Given the description of an element on the screen output the (x, y) to click on. 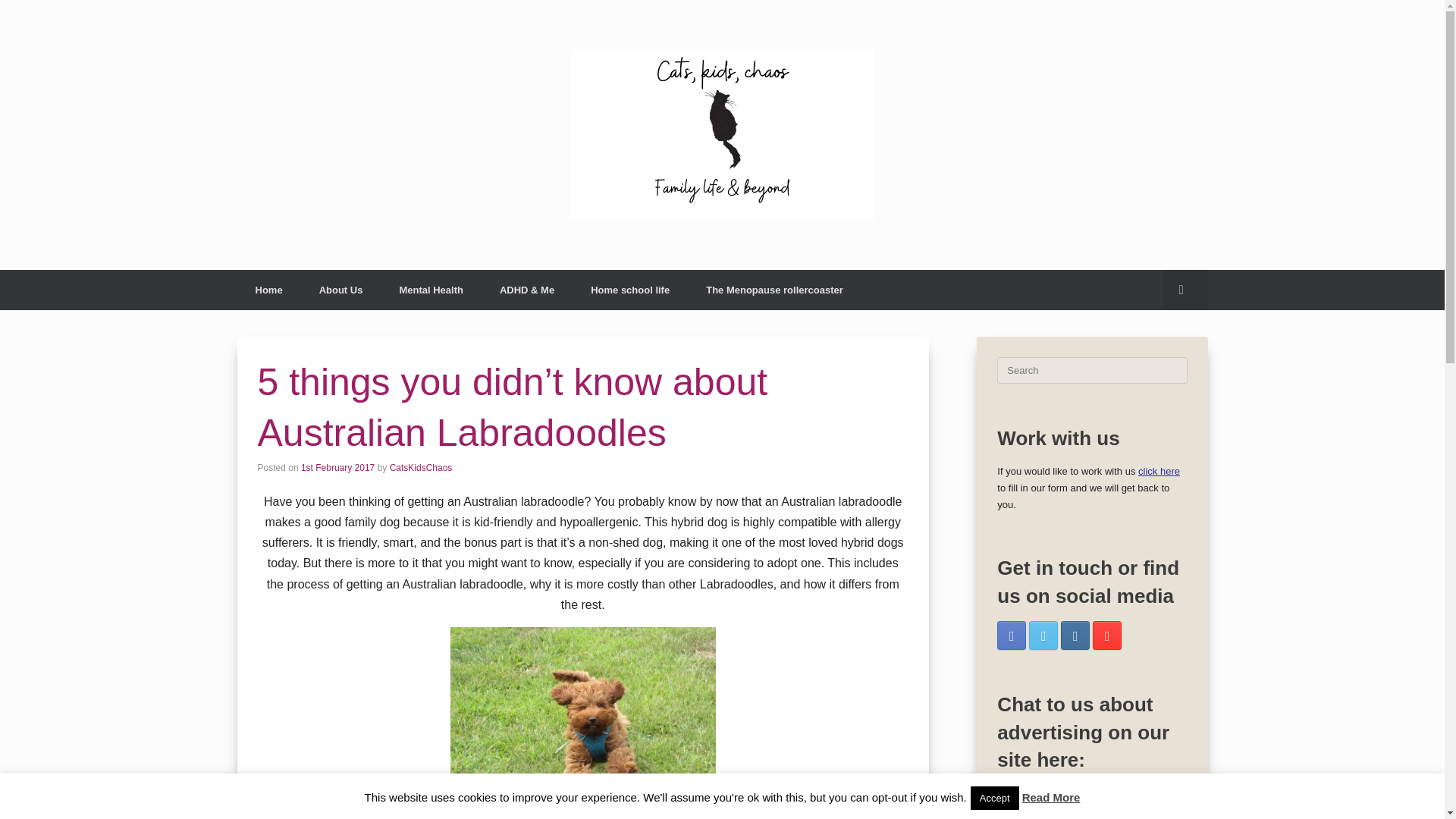
Accept (995, 797)
click here (1158, 471)
1st February 2017 (337, 467)
CatsKidsChaos Pinterest (1107, 635)
2:07 pm (337, 467)
CatsKidsChaos Instagram (1075, 635)
Home (267, 290)
Home school life (629, 290)
View all posts by CatsKidsChaos (421, 467)
CatsKidsChaos Facebook (1011, 635)
